Given the description of an element on the screen output the (x, y) to click on. 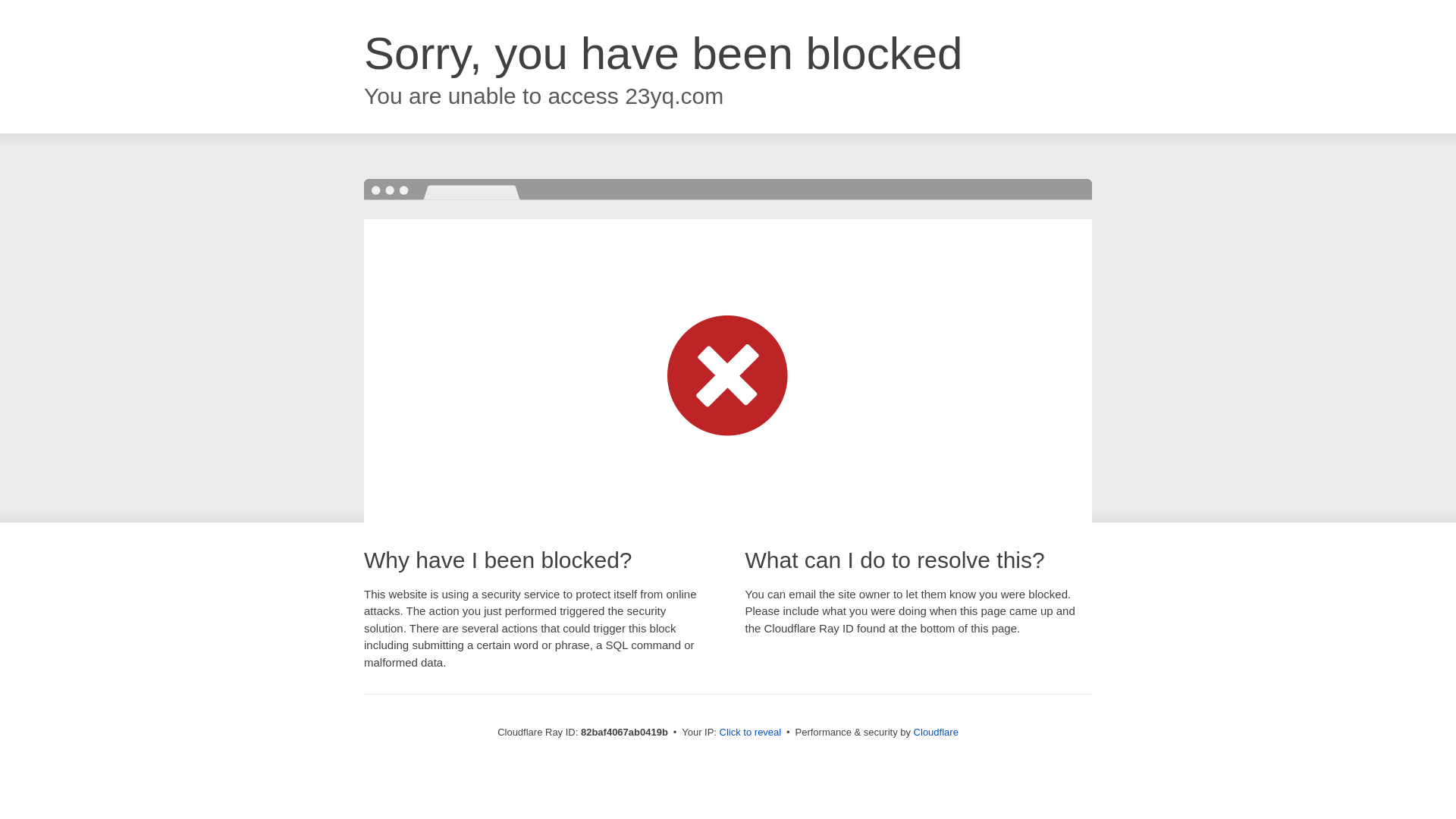
Cloudflare Element type: text (935, 731)
Click to reveal Element type: text (750, 732)
